Given the description of an element on the screen output the (x, y) to click on. 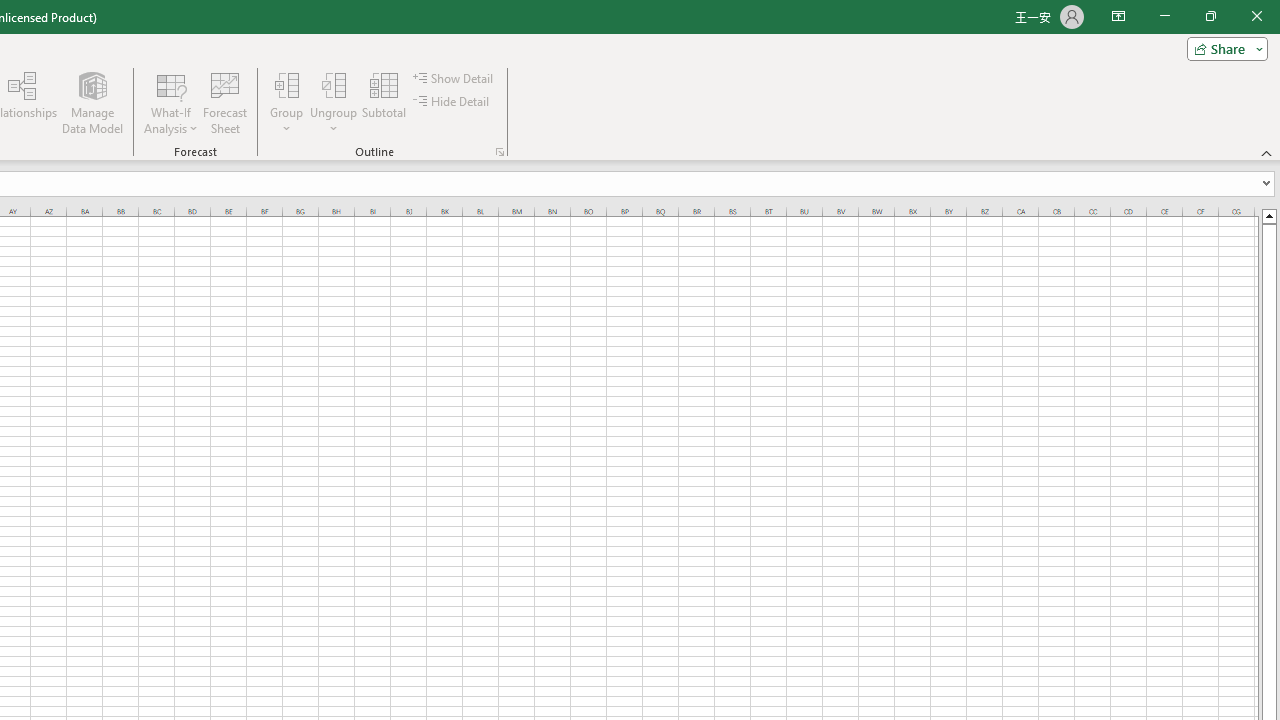
Group... (287, 84)
Minimize (1164, 16)
Ribbon Display Options (1118, 16)
Manage Data Model (92, 102)
Show Detail (454, 78)
Ungroup... (333, 84)
Subtotal (384, 102)
Line up (1268, 215)
Forecast Sheet (224, 102)
Group and Outline Settings (499, 151)
Collapse the Ribbon (1267, 152)
More Options (333, 121)
Share (1223, 48)
Restore Down (1210, 16)
Ungroup... (333, 102)
